Given the description of an element on the screen output the (x, y) to click on. 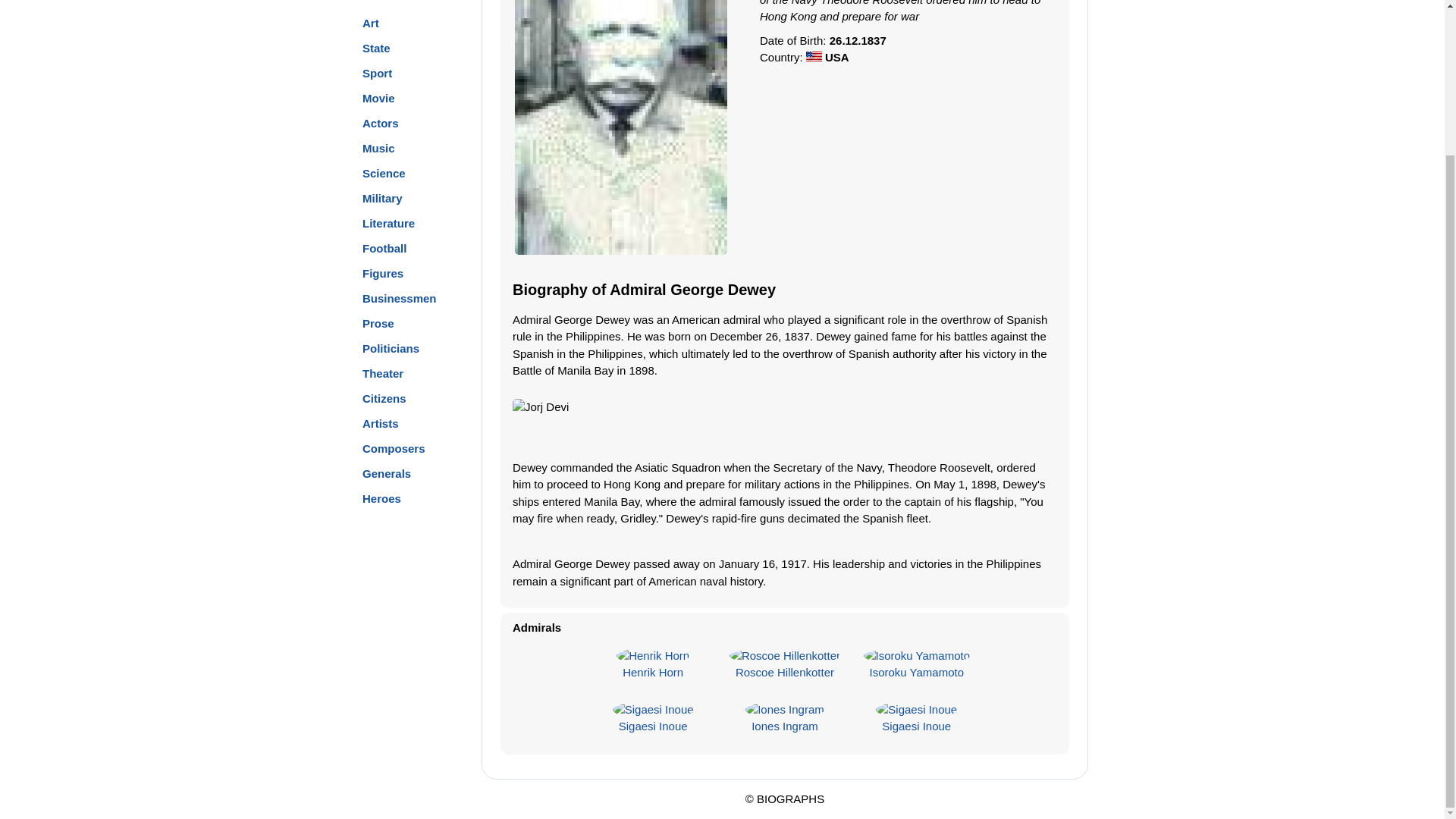
Politicians (390, 347)
Artists (380, 422)
Theater (382, 373)
Figures (382, 273)
Music (378, 146)
Prose (378, 323)
Sport (376, 72)
Politicians (390, 347)
Football (384, 246)
Military (382, 196)
Football (384, 246)
Military (382, 196)
Sigaesi Inoue (652, 725)
Science (384, 173)
Sport (376, 72)
